Given the description of an element on the screen output the (x, y) to click on. 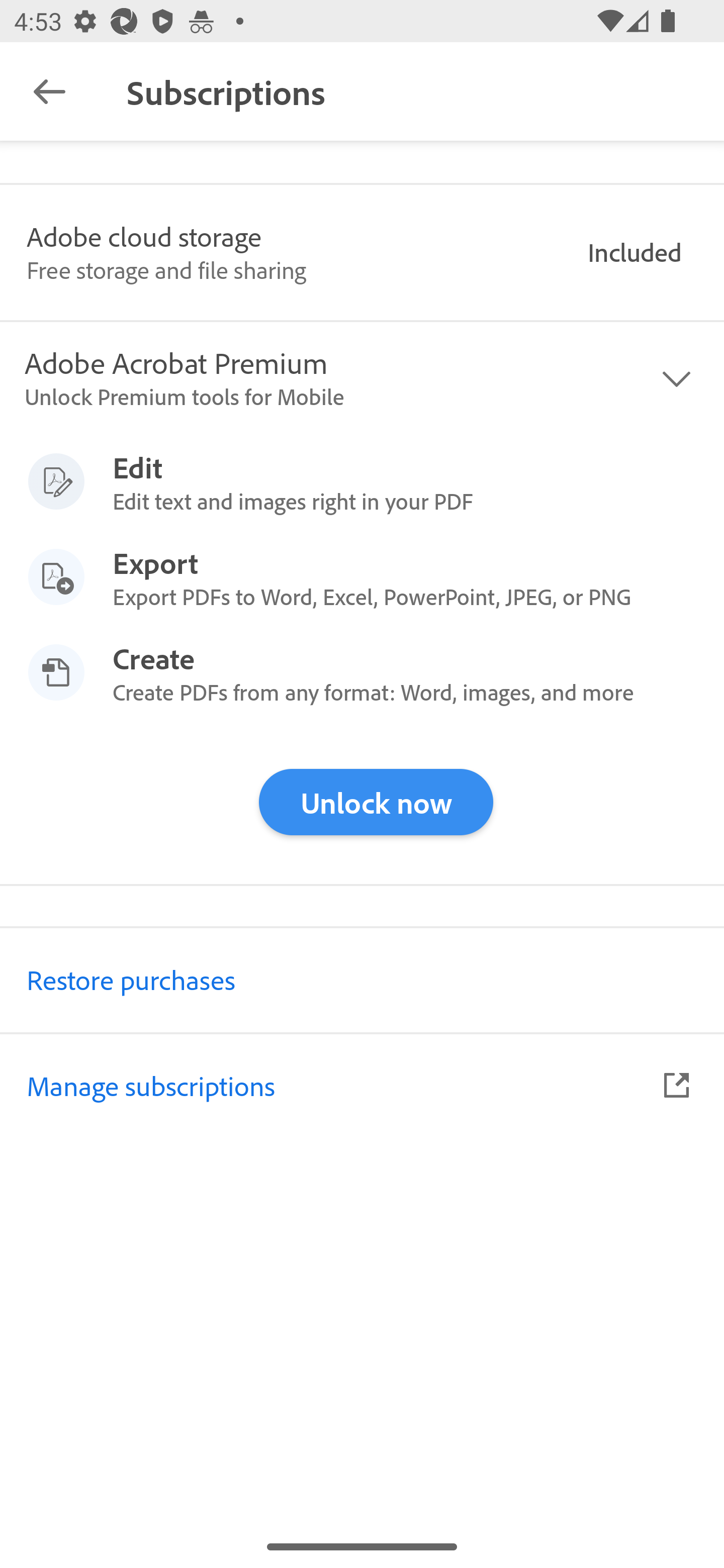
Navigate up (49, 91)
Unlock now (376, 801)
Restore purchases (362, 978)
Manage subscriptions (362, 1084)
